Given the description of an element on the screen output the (x, y) to click on. 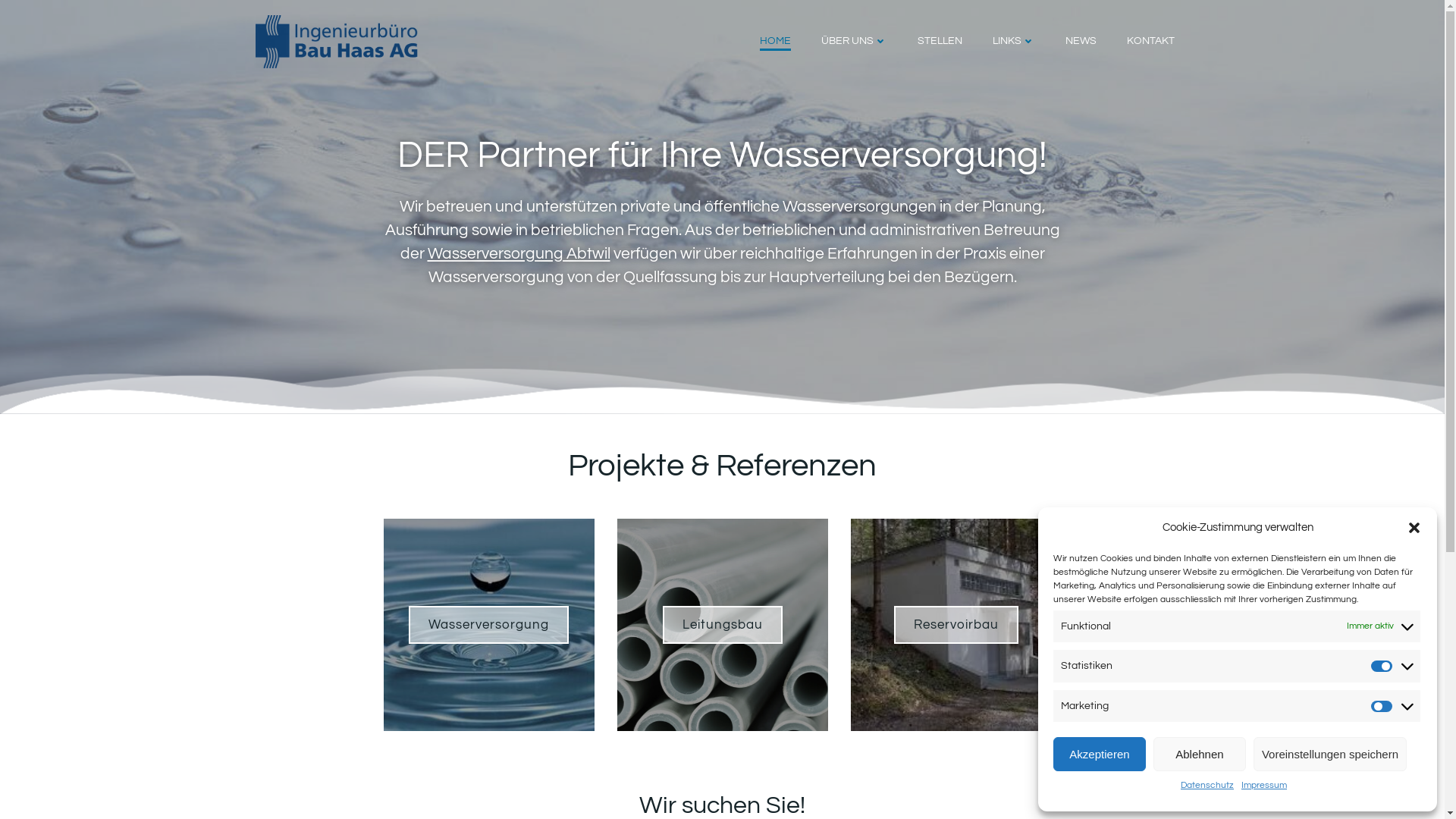
NEWS Element type: text (1079, 41)
HOME Element type: text (774, 41)
Akzeptieren Element type: text (1099, 754)
Leitungsbau Element type: text (722, 624)
LINKS Element type: text (1012, 41)
Impressum Element type: text (1263, 785)
Voreinstellungen speichern Element type: text (1329, 754)
Wasserversorgung Element type: text (488, 624)
Ablehnen Element type: text (1199, 754)
Wasserversorgung Abtwil Element type: text (520, 253)
Datenschutz Element type: text (1206, 785)
Reservoirbau Element type: text (955, 624)
KONTAKT Element type: text (1150, 41)
STELLEN Element type: text (939, 41)
